Given the description of an element on the screen output the (x, y) to click on. 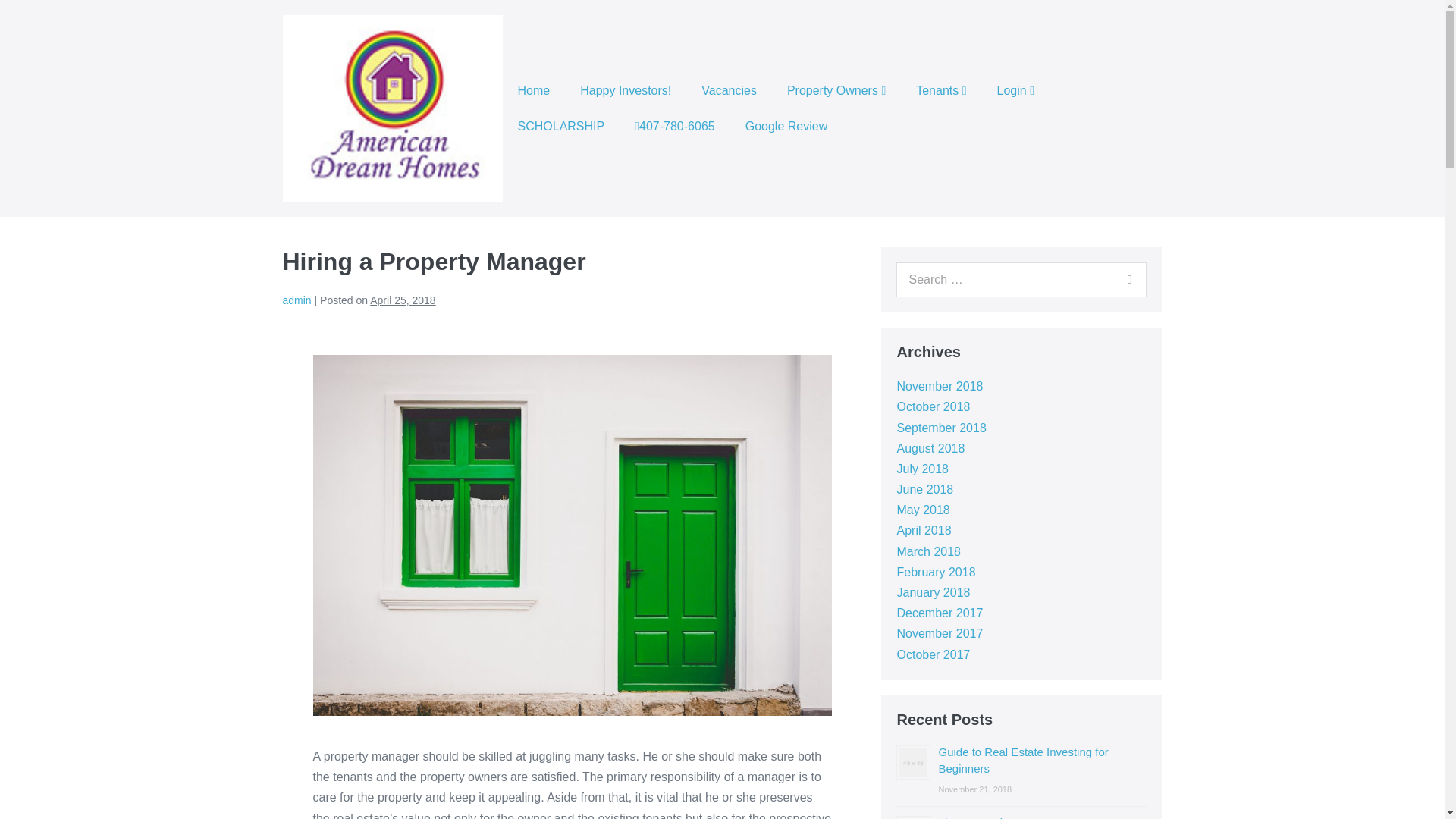
View all posts by admin (296, 300)
Orlando Property Management Company - American Dream Homes (392, 108)
Happy Investors! (624, 90)
Tenants (941, 90)
Login (1015, 90)
SCHOLARSHIP (561, 126)
Press enter to search (1021, 279)
407-780-6065 (674, 126)
Vacancies (728, 90)
